Given the description of an element on the screen output the (x, y) to click on. 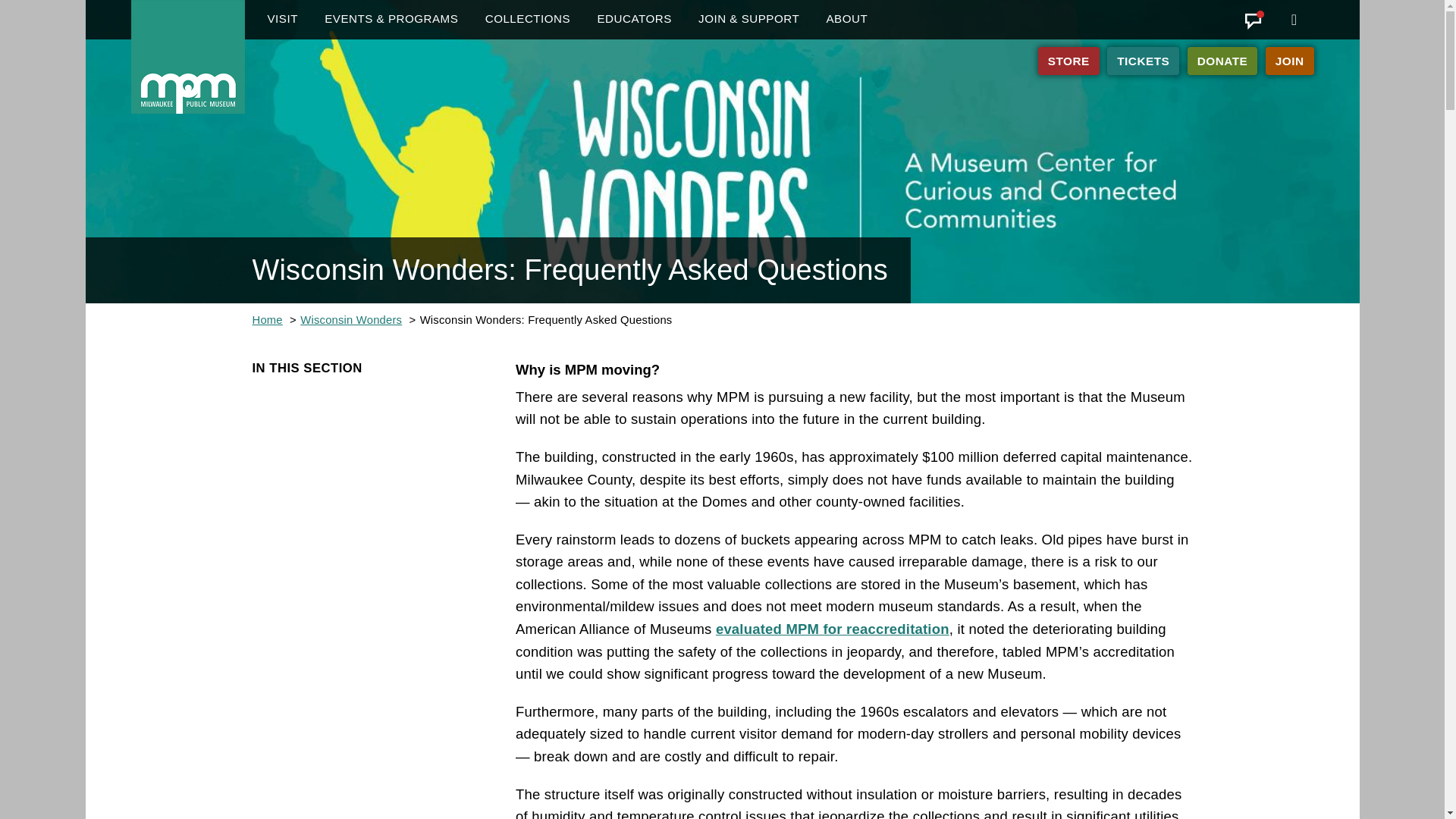
Home (187, 56)
COLLECTIONS (527, 19)
EDUCATORS (633, 19)
VISIT (282, 19)
